Given the description of an element on the screen output the (x, y) to click on. 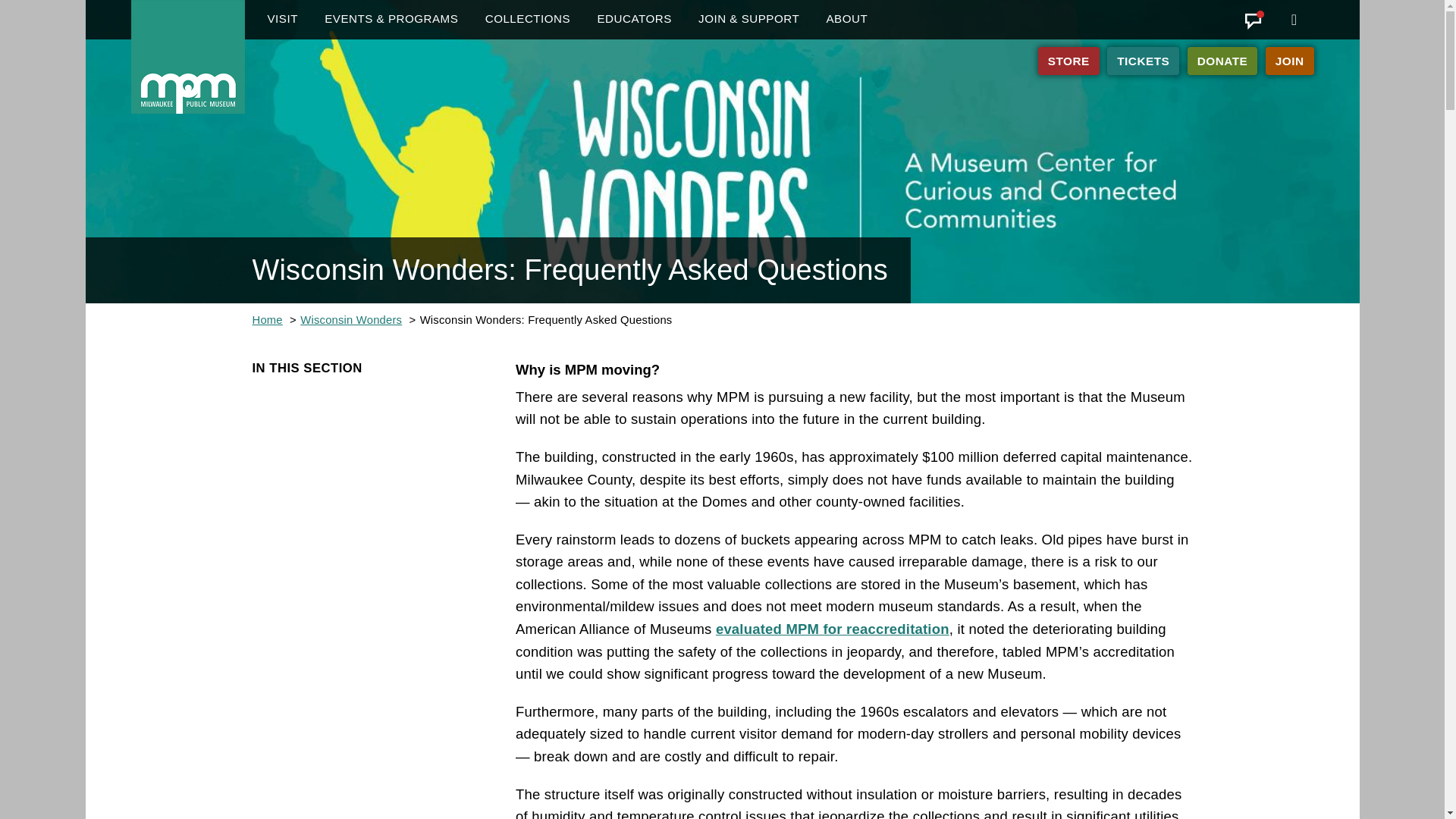
Home (187, 56)
COLLECTIONS (527, 19)
EDUCATORS (633, 19)
VISIT (282, 19)
